Given the description of an element on the screen output the (x, y) to click on. 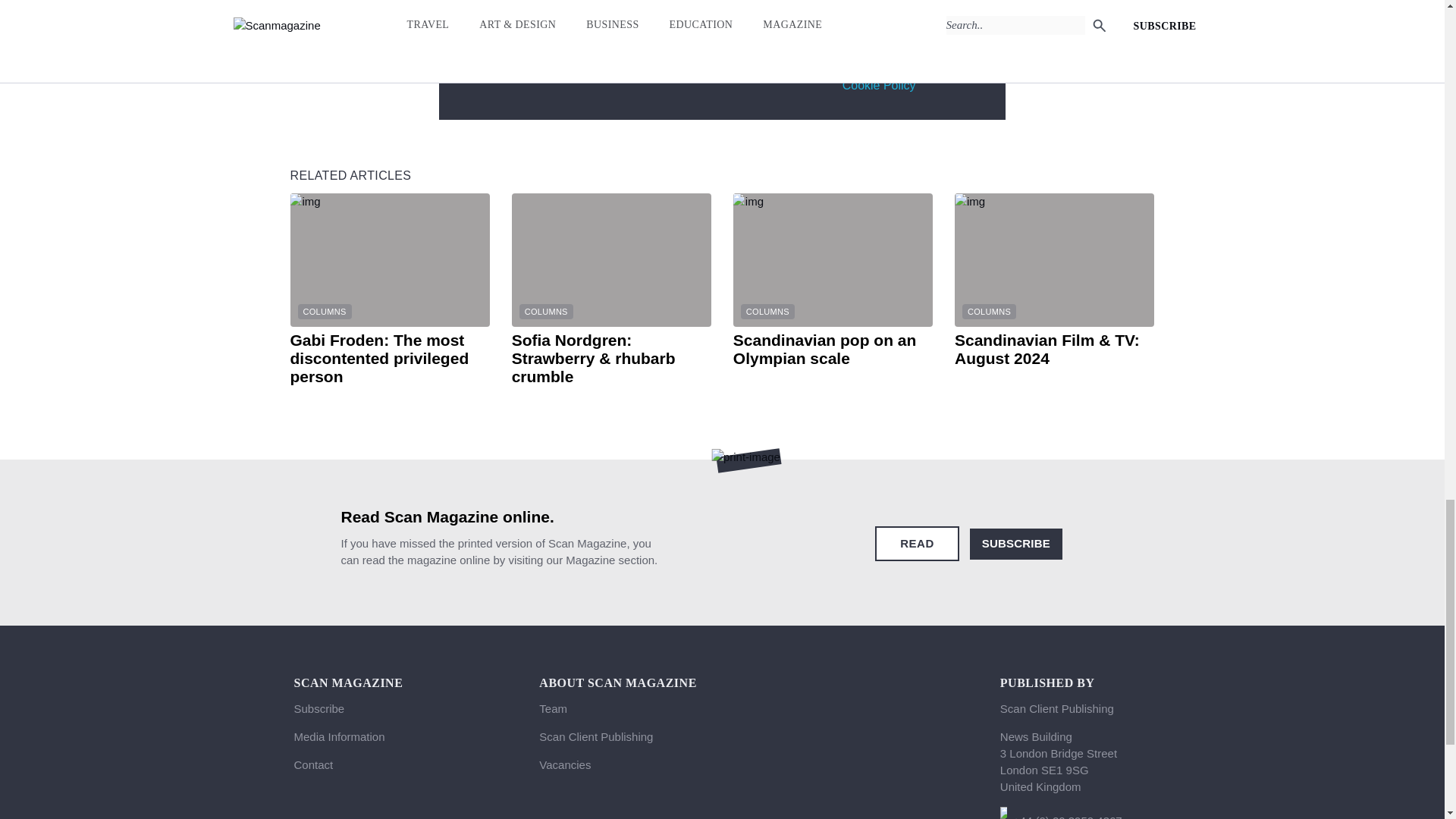
Sign Up (870, 28)
